Given the description of an element on the screen output the (x, y) to click on. 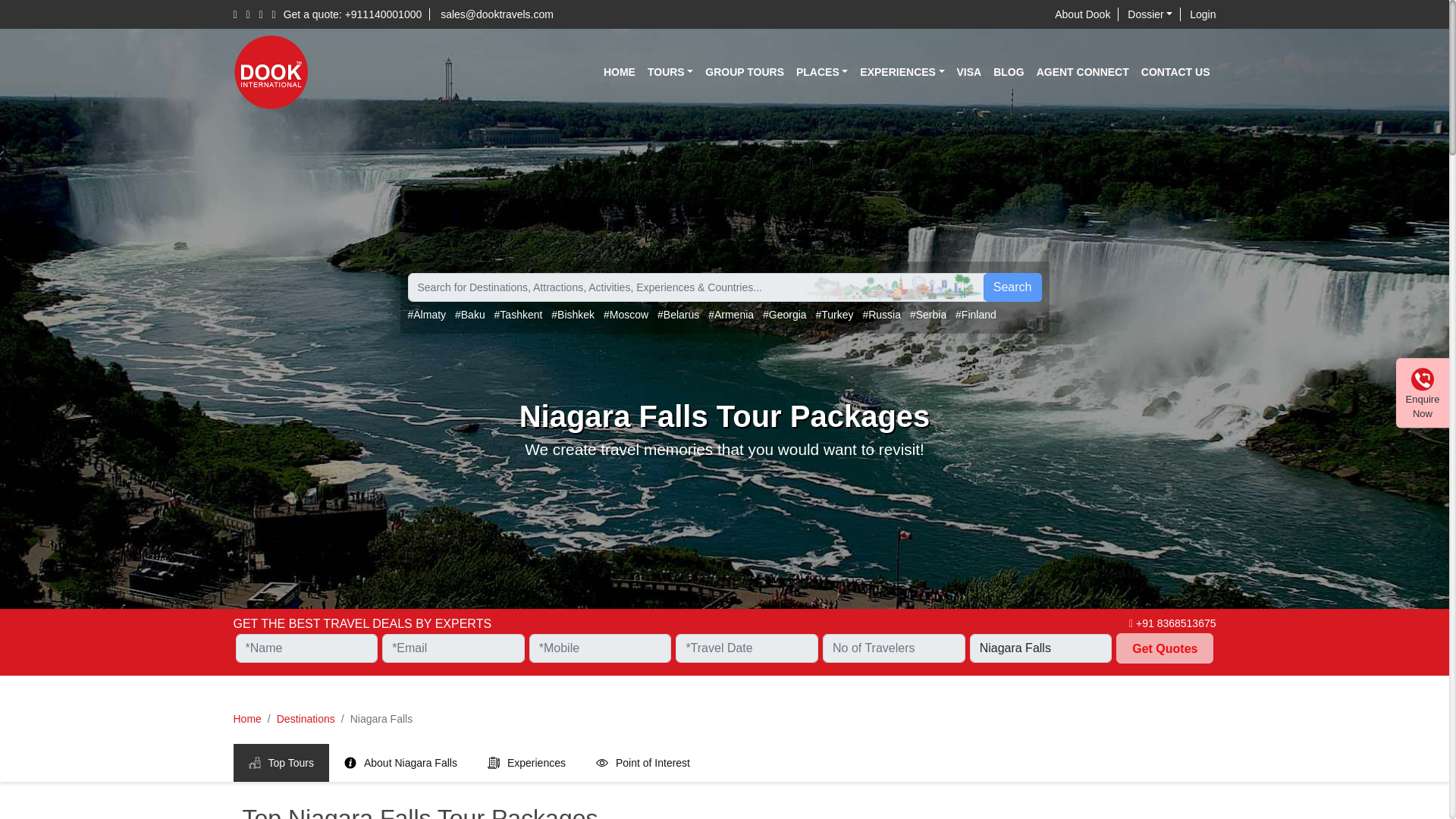
TOURS (670, 71)
GROUP TOURS (744, 71)
PLACES (821, 71)
Login (1202, 14)
Niagara Falls (1040, 647)
About Dook (1086, 14)
HOME (619, 71)
Dossier (1152, 14)
